Given the description of an element on the screen output the (x, y) to click on. 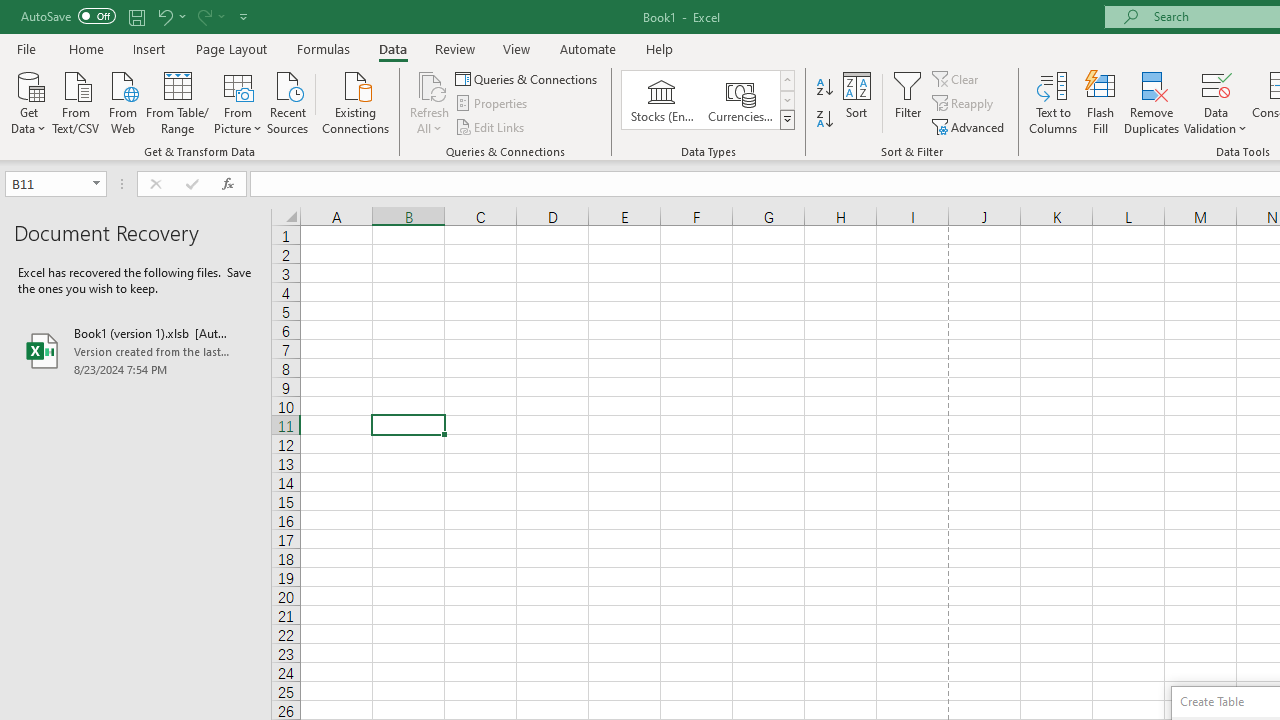
Clear (957, 78)
Existing Connections (355, 101)
Sort A to Z (824, 87)
Sort Z to A (824, 119)
Queries & Connections (527, 78)
